Given the description of an element on the screen output the (x, y) to click on. 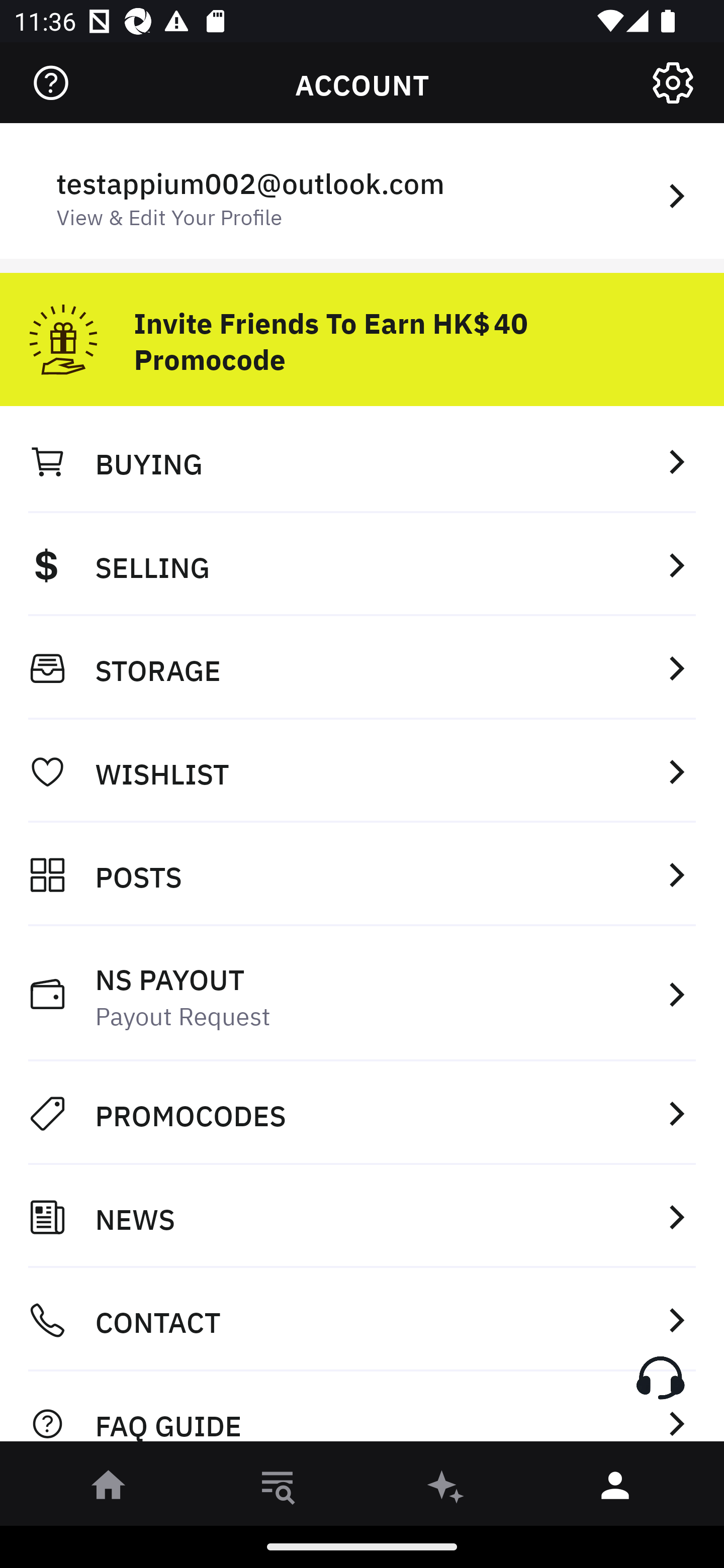
 (50, 83)
 (672, 83)
Invite Friends To Earn HK$ 40 Promocode (362, 332)
 BUYING  (361, 460)
 SELLING  (361, 564)
 STORAGE  (361, 667)
 WISHLIST  (361, 771)
 POSTS  (361, 874)
 0 NS PAYOUT Payout Request  (361, 993)
 PROMOCODES  (361, 1113)
 NEWS  (361, 1216)
 CONTACT  (361, 1320)
 FAQ GUIDE  (361, 1411)
󰋜 (108, 1488)
󱎸 (277, 1488)
󰫢 (446, 1488)
󰀄 (615, 1488)
